Given the description of an element on the screen output the (x, y) to click on. 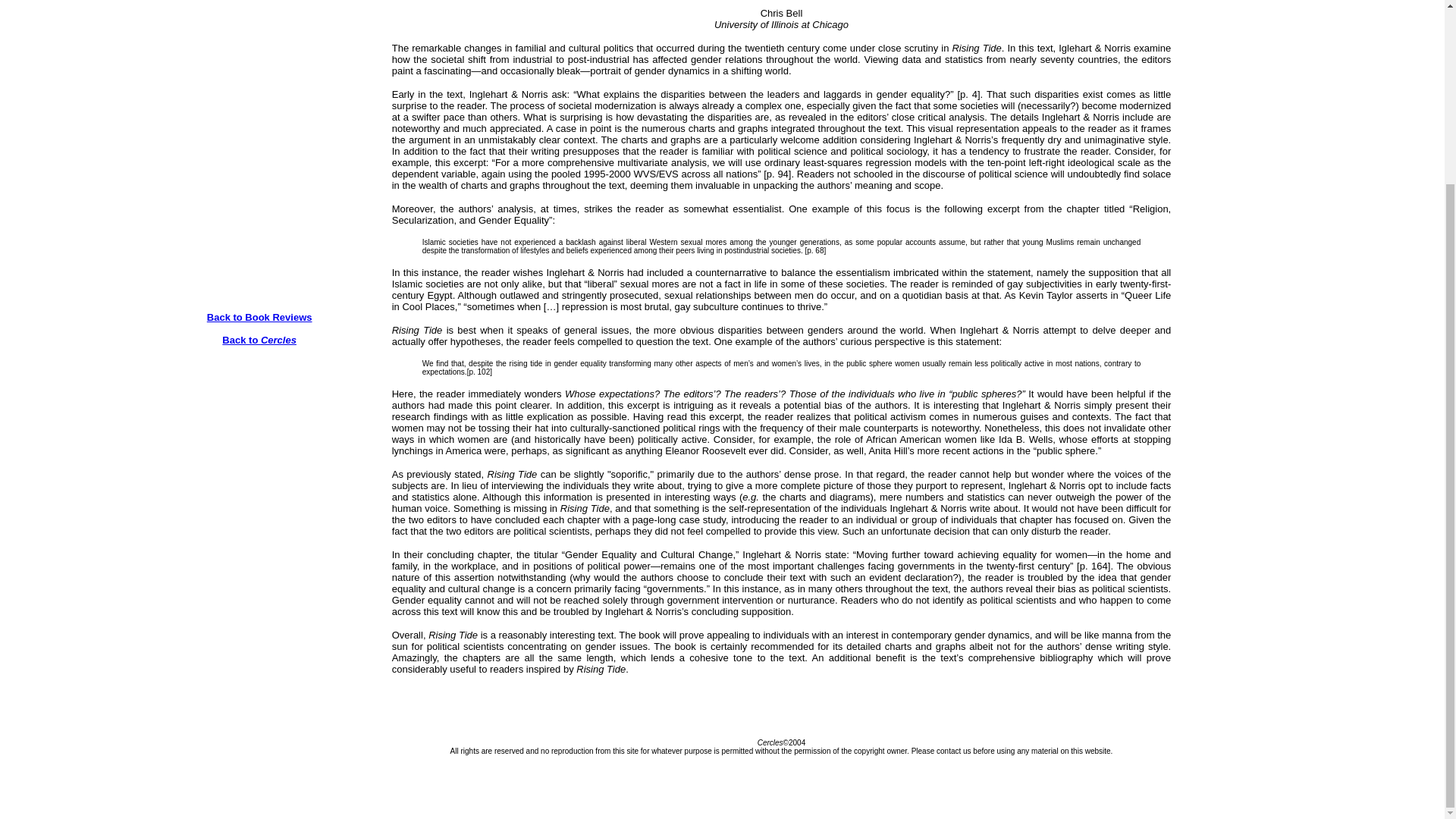
Back to Cercles (259, 345)
Back to Book Reviews (259, 317)
